Given the description of an element on the screen output the (x, y) to click on. 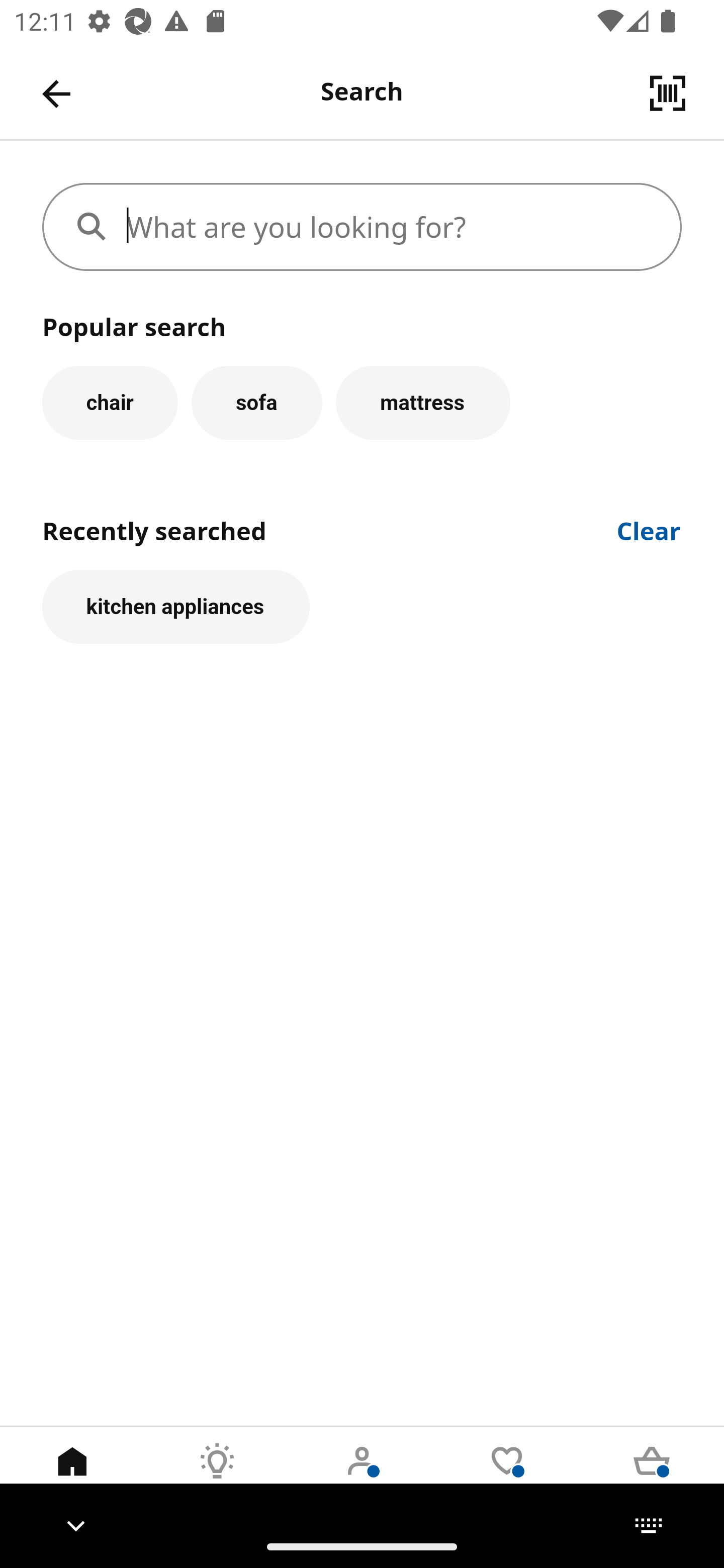
chair (109, 402)
sofa (256, 402)
mattress (423, 402)
Clear (649, 528)
kitchen appliances (175, 606)
Home
Tab 1 of 5 (72, 1476)
Inspirations
Tab 2 of 5 (216, 1476)
User
Tab 3 of 5 (361, 1476)
Wishlist
Tab 4 of 5 (506, 1476)
Cart
Tab 5 of 5 (651, 1476)
